Given the description of an element on the screen output the (x, y) to click on. 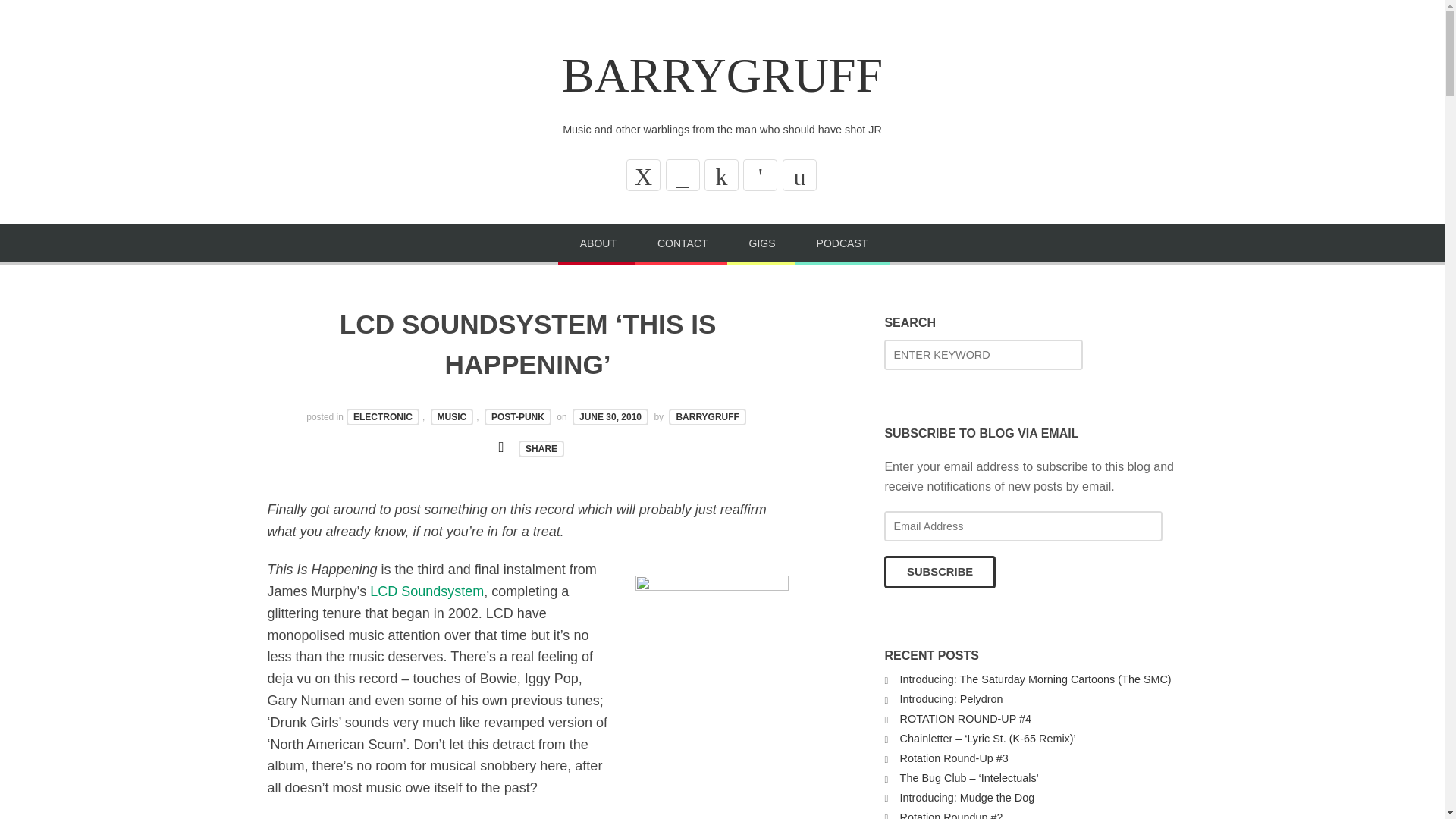
POST-PUNK (517, 416)
8:21 pm (609, 416)
LCD Soundsystem (426, 590)
GIGS (761, 244)
JUNE 30, 2010 (609, 416)
ELECTRONIC (382, 416)
ABOUT (598, 244)
BARRYGRUFF (706, 416)
lcd-soundsystem-this-is-happening-cover (711, 651)
BARRYGRUFF (722, 75)
View all posts by BarryGruff (706, 416)
PODCAST (841, 244)
u (799, 174)
k (721, 174)
Search (46, 16)
